Given the description of an element on the screen output the (x, y) to click on. 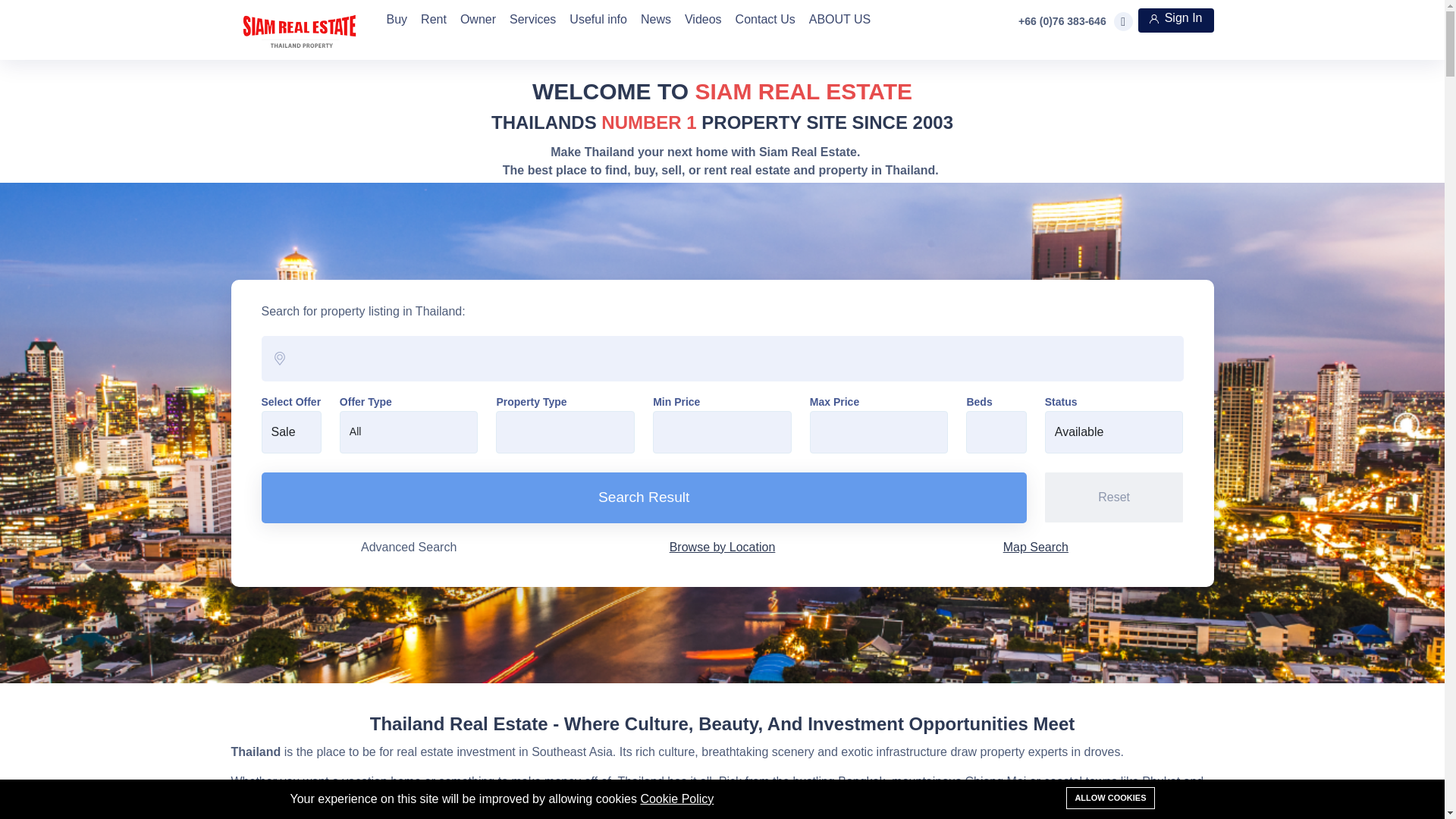
Buy (395, 13)
